Given the description of an element on the screen output the (x, y) to click on. 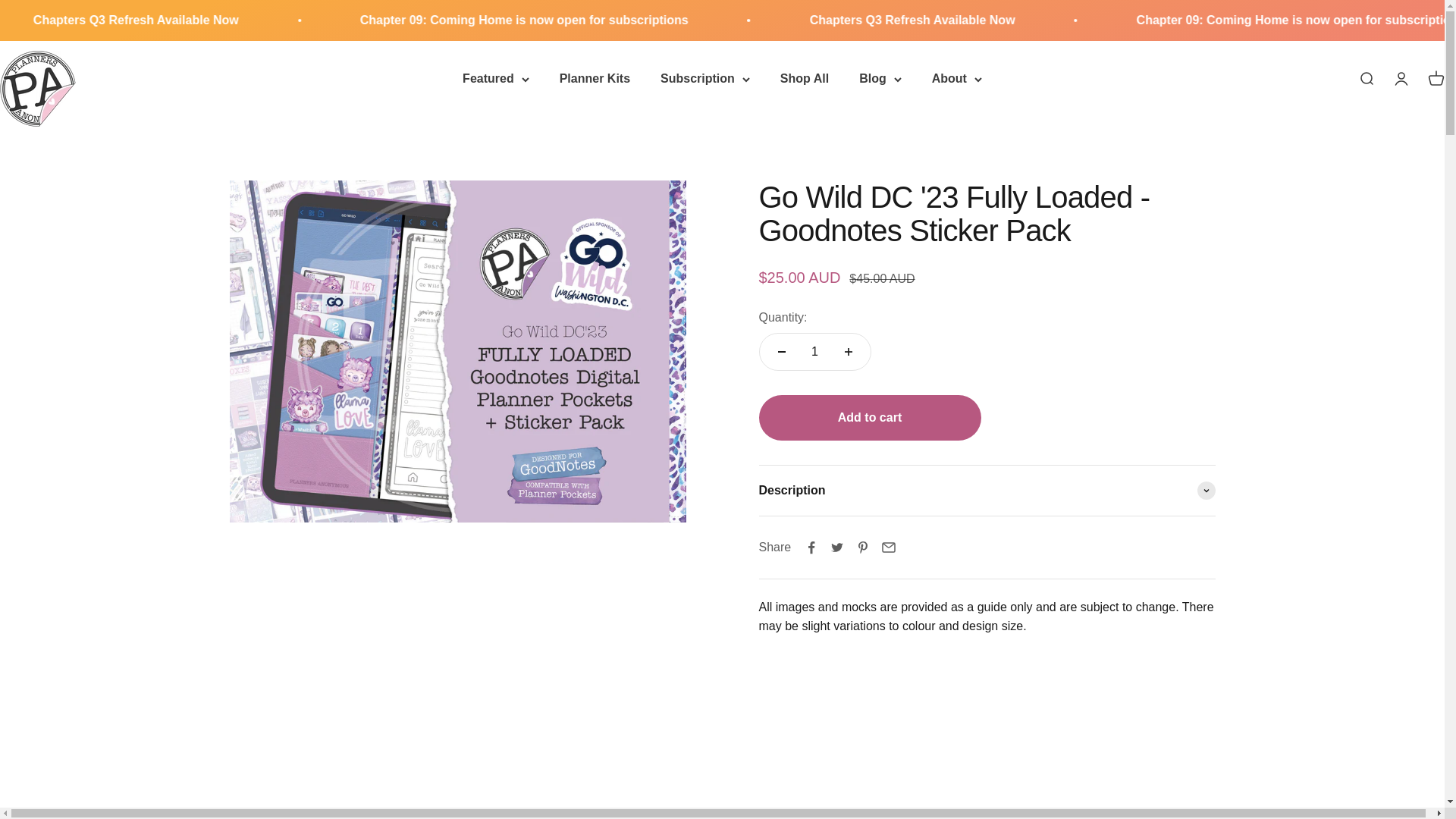
Planner Kits (594, 78)
Shop All (804, 78)
Chapter 09: Coming Home is now open for subscriptions (844, 19)
Chapters Q3 Refresh Available Now (459, 19)
Chapters Q3 Refresh Available Now (1229, 19)
Chapter 09: Coming Home is now open for subscriptions (119, 19)
